Given the description of an element on the screen output the (x, y) to click on. 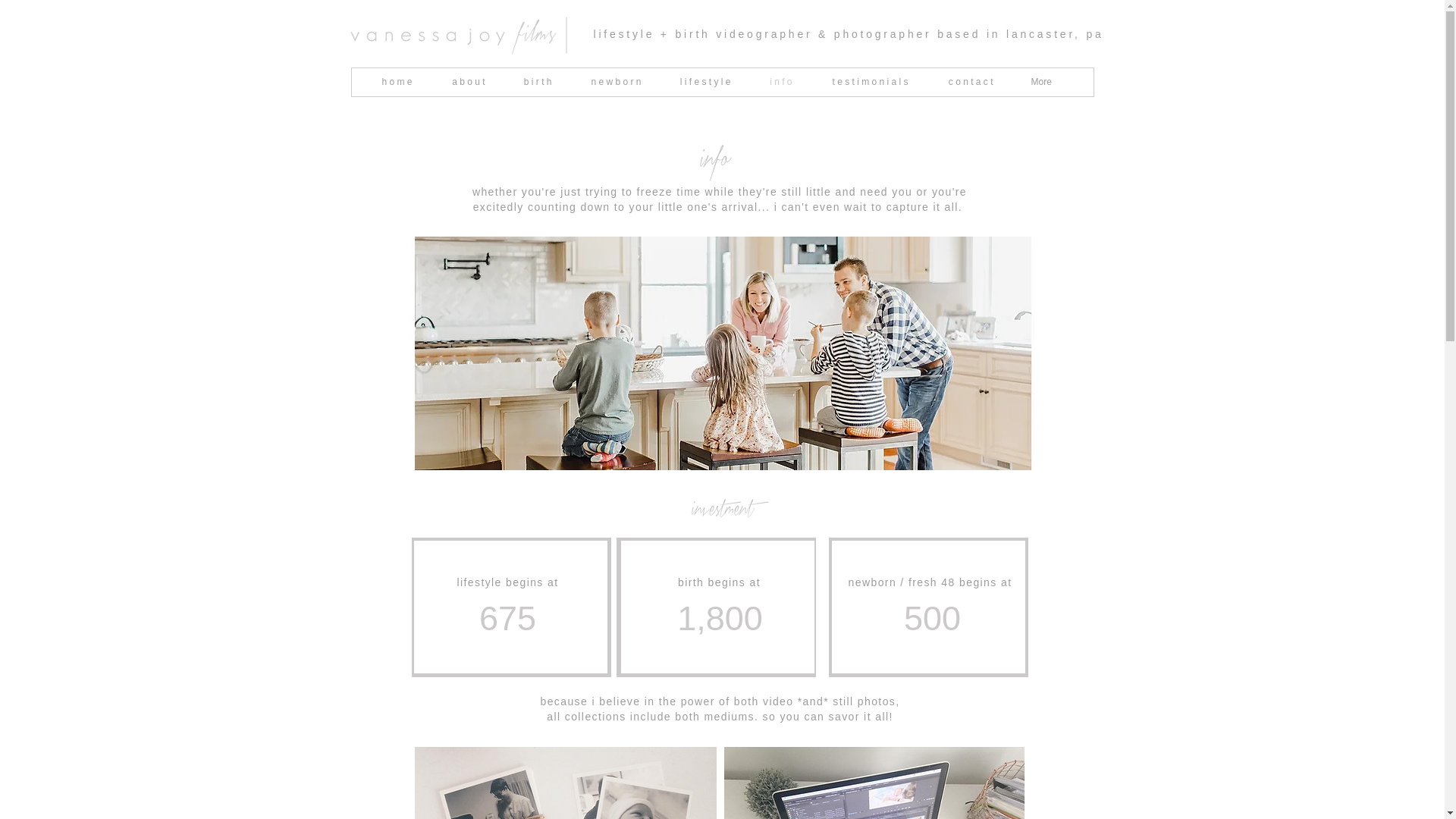
c o n t a c t (968, 82)
b i r t h (536, 82)
h o m e (396, 82)
t e s t i m o n i a l s (868, 82)
l i f e s t y l e (704, 82)
Screenshot 2017-03-30 15.42.09.png (873, 782)
5.png (721, 513)
Screenshot 2017-03-30 15.38.09.png (564, 782)
i n f o (779, 82)
n e w b o r n (614, 82)
4.png (715, 165)
a b o u t (466, 82)
